Given the description of an element on the screen output the (x, y) to click on. 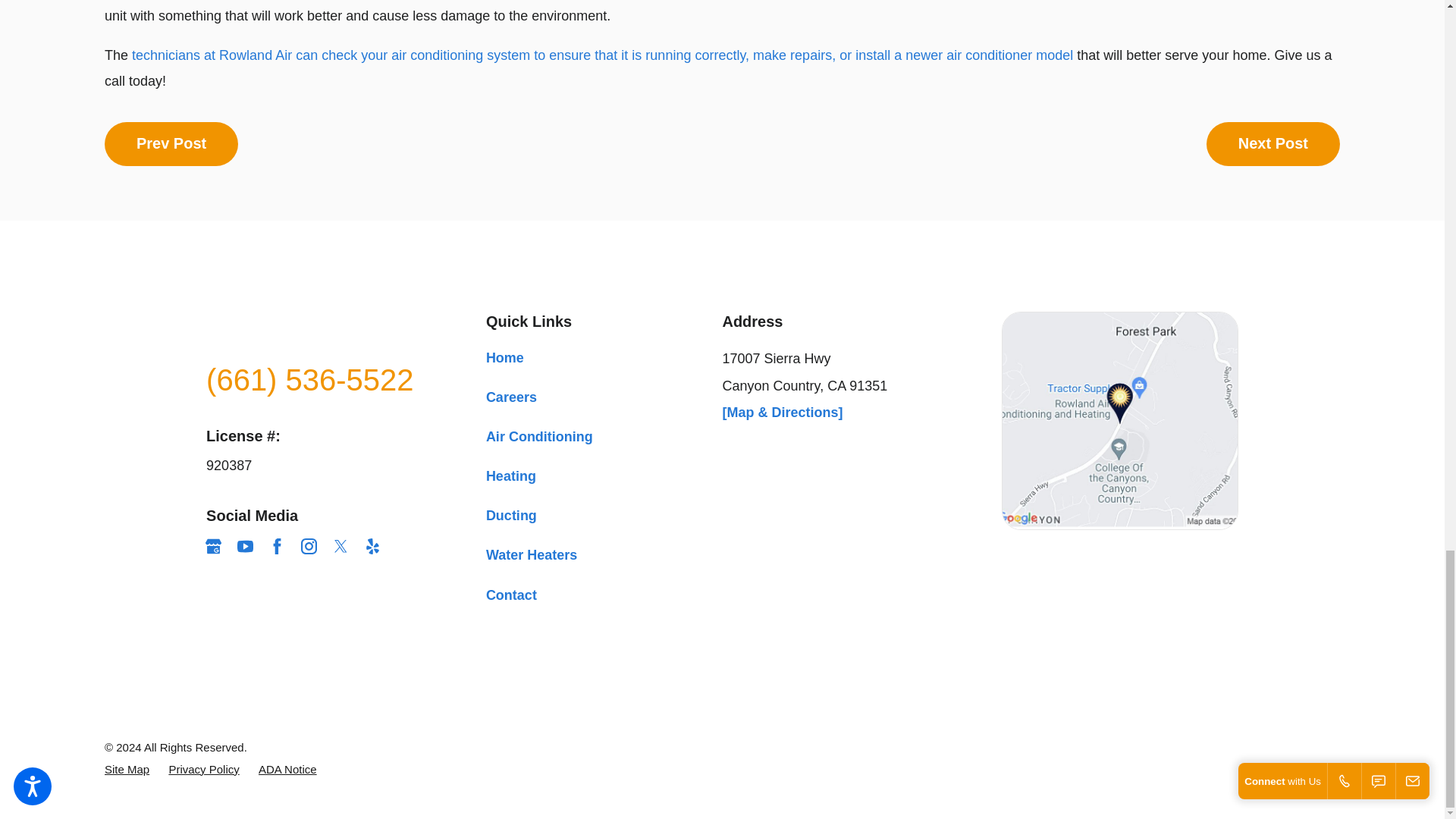
YouTube (245, 546)
Yelp (372, 546)
Instagram (309, 546)
Facebook (277, 546)
Google Business Profile (213, 546)
Twitter (341, 546)
